Given the description of an element on the screen output the (x, y) to click on. 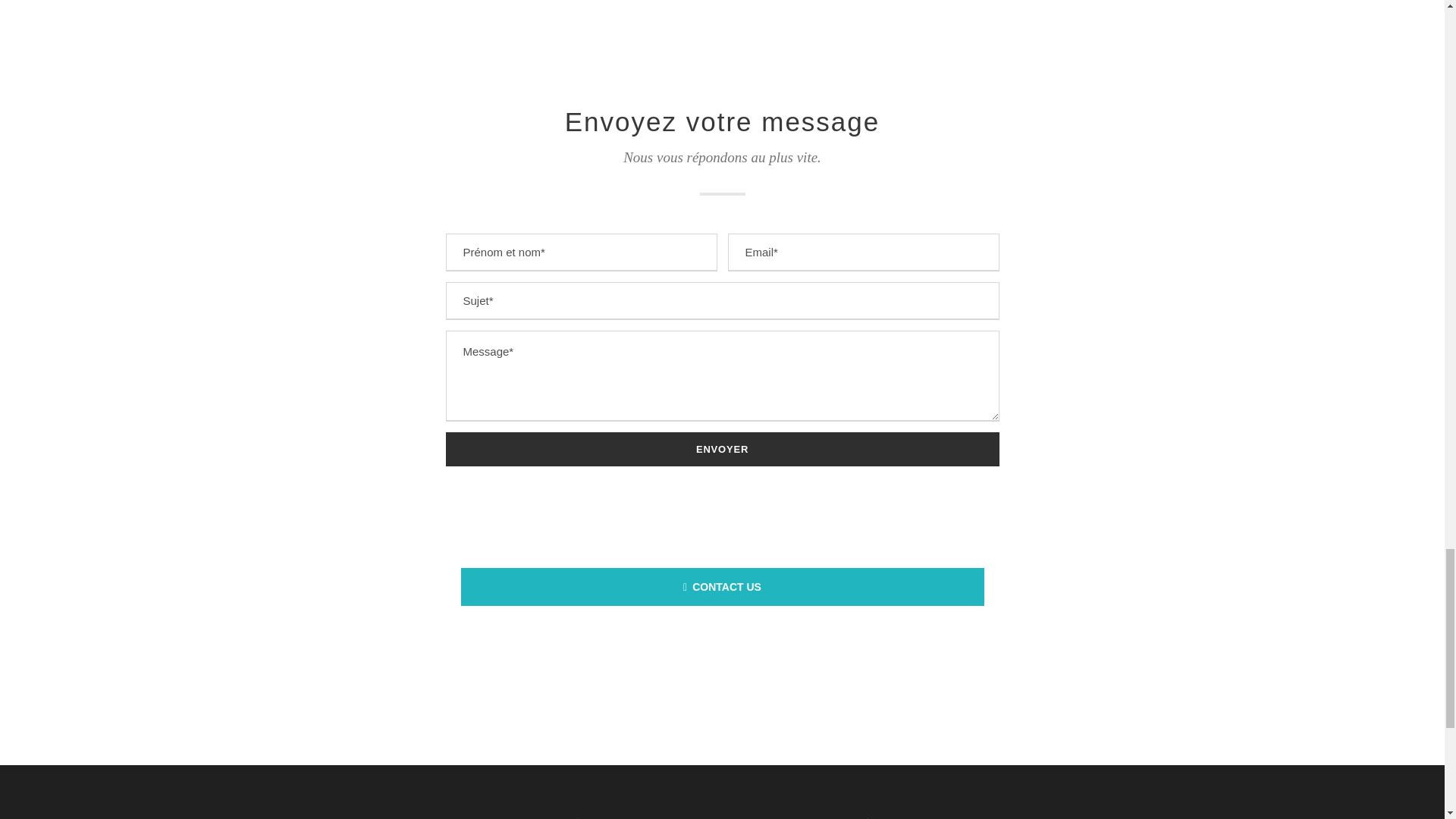
Envoyer (721, 449)
